Given the description of an element on the screen output the (x, y) to click on. 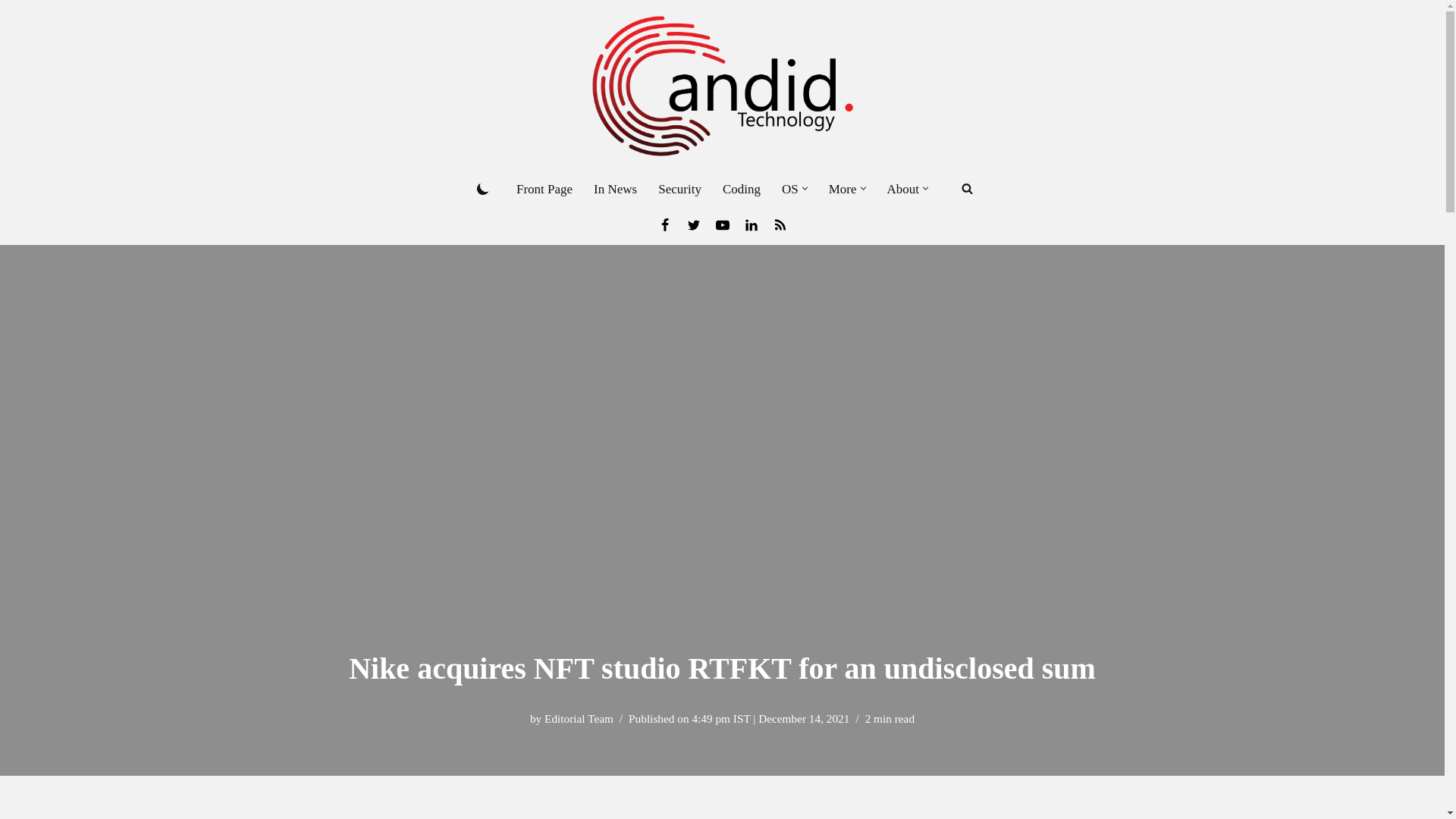
More (842, 188)
In News (615, 188)
Posts by Editorial Team (578, 717)
News (779, 224)
Skip to content (11, 31)
Youtube (721, 224)
Twitter (692, 224)
Linkedin (750, 224)
About (903, 188)
Front Page (544, 188)
